Given the description of an element on the screen output the (x, y) to click on. 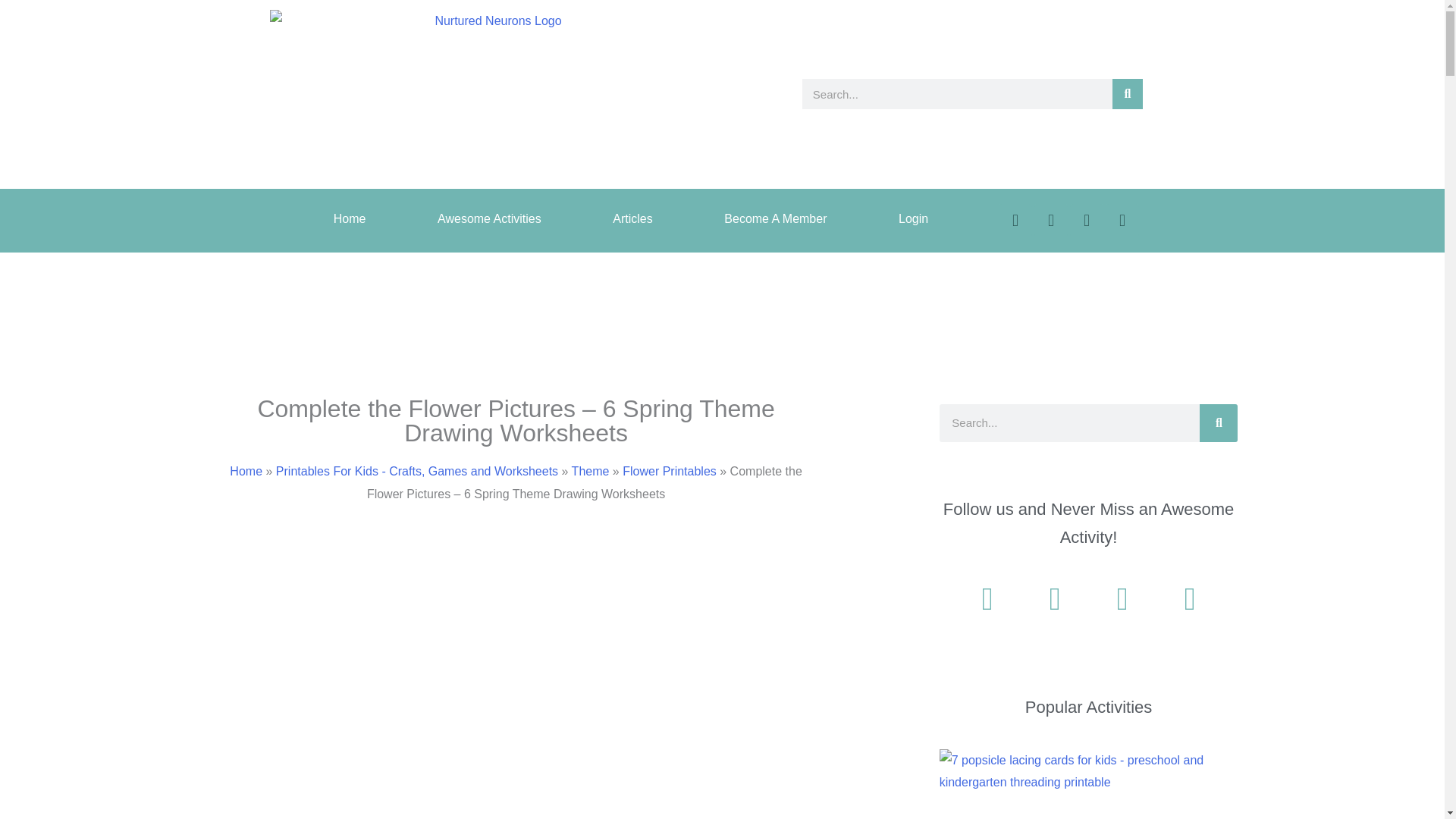
Facebook (1015, 220)
Flower Printables (669, 471)
Twitter (1050, 220)
Login (913, 218)
Become A Member (775, 218)
Home (246, 471)
Printables For Kids - Crafts, Games and Worksheets (416, 471)
Awesome Activities (488, 218)
Home (349, 218)
Instagram (1121, 220)
Theme (591, 471)
Pinterest (1086, 220)
Search (1127, 93)
Articles (632, 218)
